Given the description of an element on the screen output the (x, y) to click on. 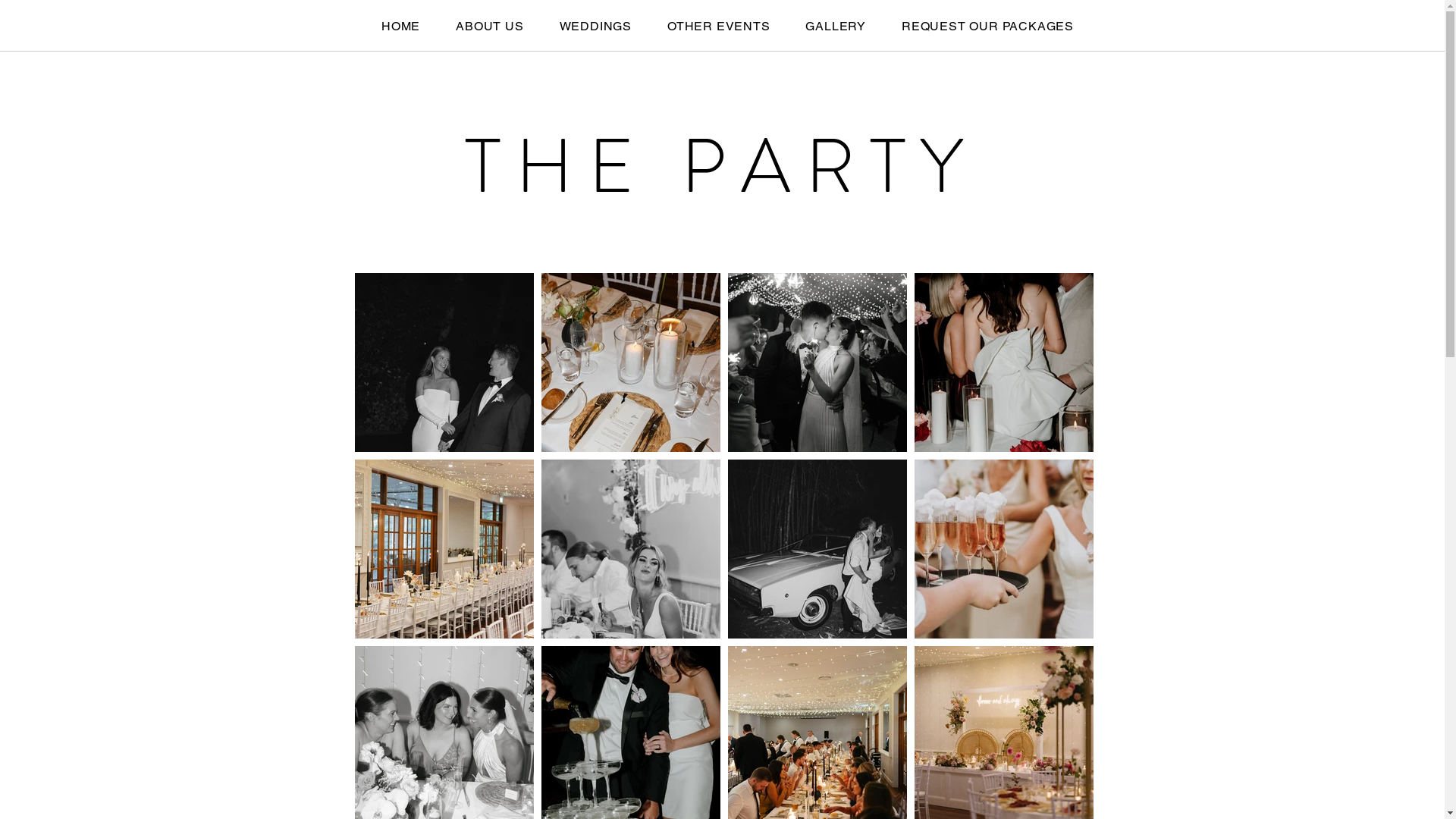
HOME Element type: text (401, 25)
WEDDINGS Element type: text (595, 25)
ABOUT US Element type: text (489, 25)
GALLERY Element type: text (835, 25)
OTHER EVENTS Element type: text (718, 25)
REQUEST OUR PACKAGES Element type: text (987, 25)
